Given the description of an element on the screen output the (x, y) to click on. 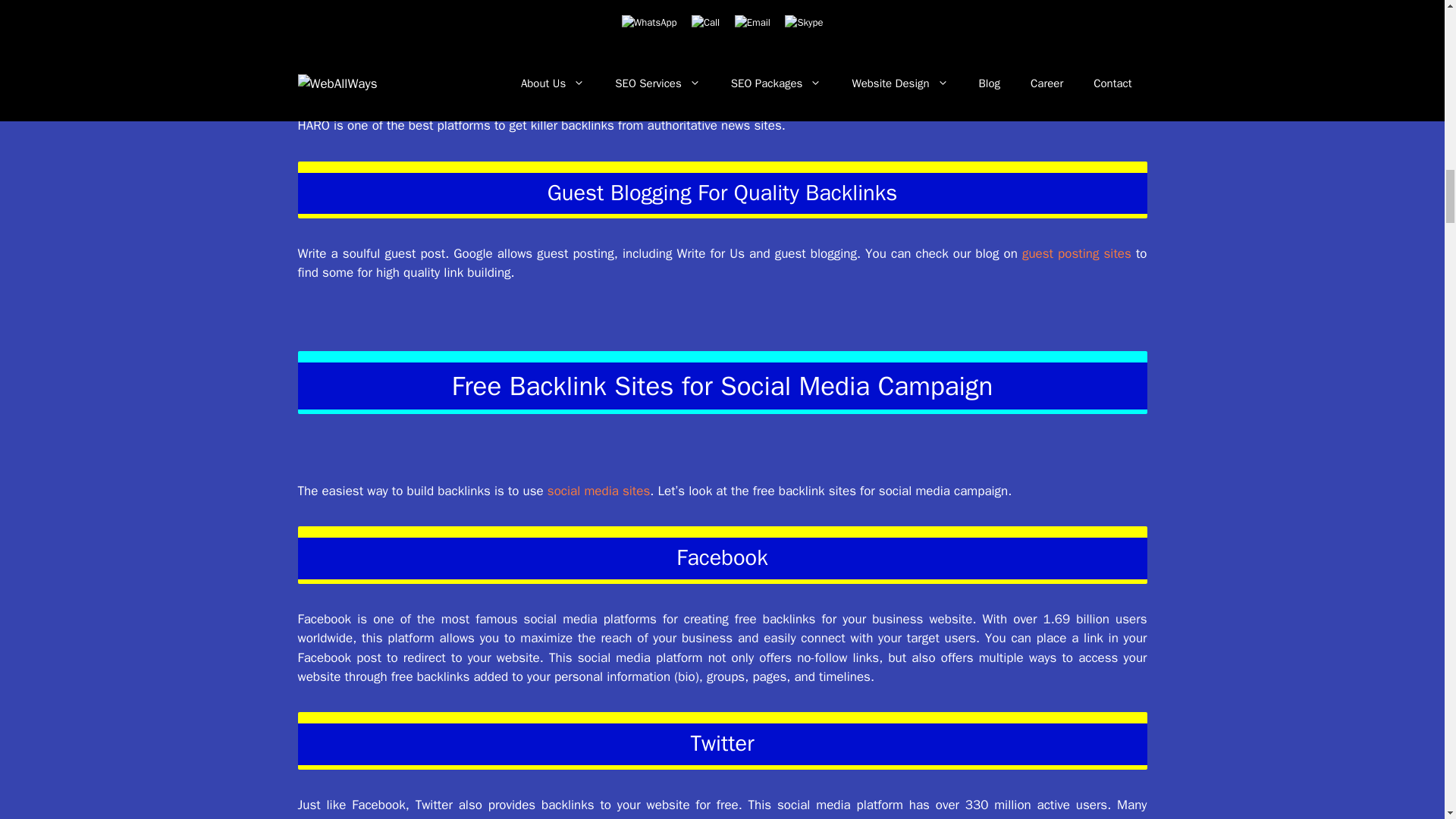
guest posting sites (1076, 253)
social media sites (598, 490)
social media sites (598, 490)
guest posting sites (1076, 253)
